Given the description of an element on the screen output the (x, y) to click on. 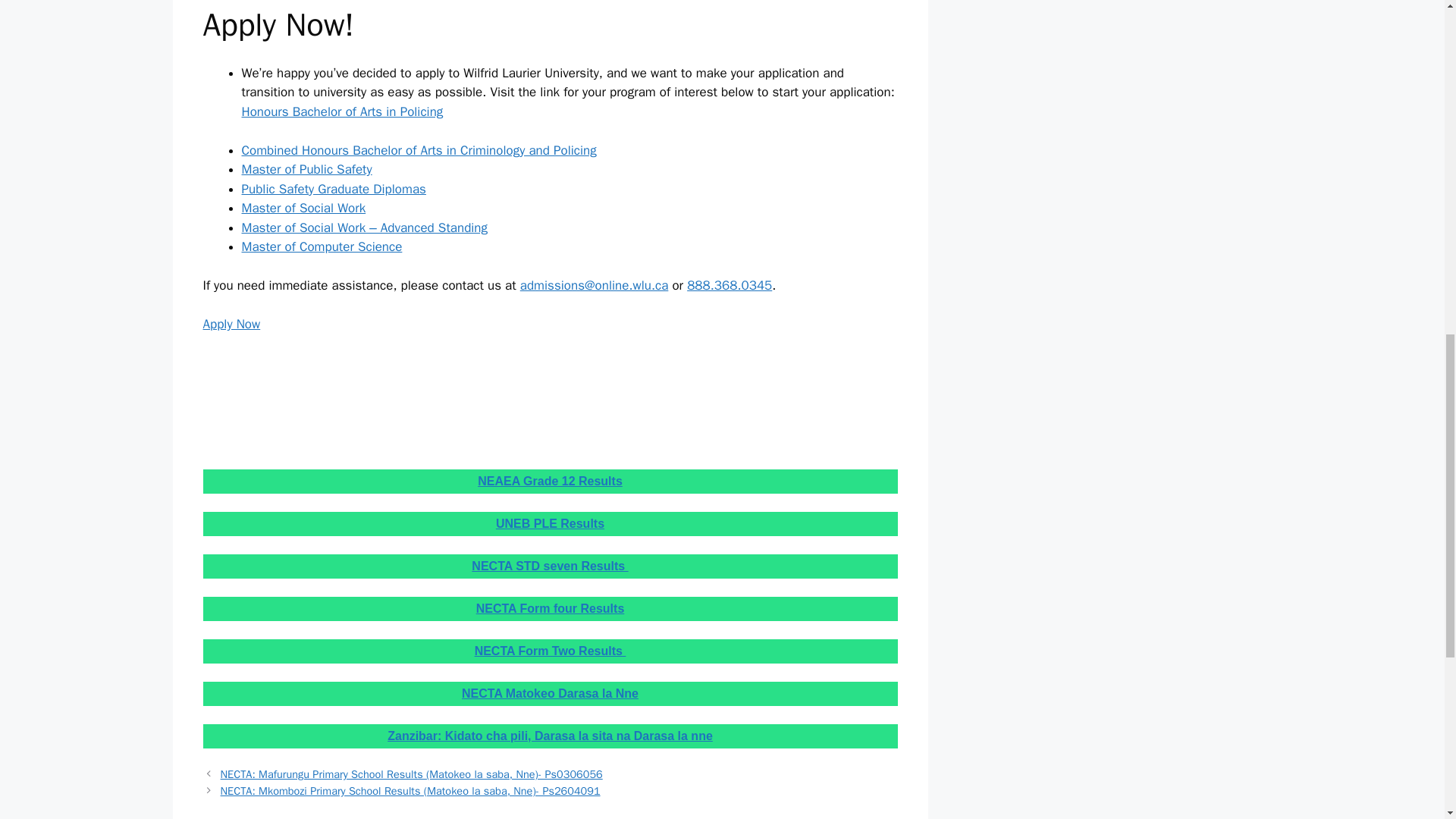
Public Safety Graduate Diplomas (333, 188)
888.368.0345 (729, 285)
Master of Computer Science (321, 246)
Scroll back to top (1406, 720)
Honours Bachelor of Arts in Policing (341, 110)
Master of Public Safety (306, 169)
Apply Now (231, 324)
Master of Social Work (303, 207)
